Given the description of an element on the screen output the (x, y) to click on. 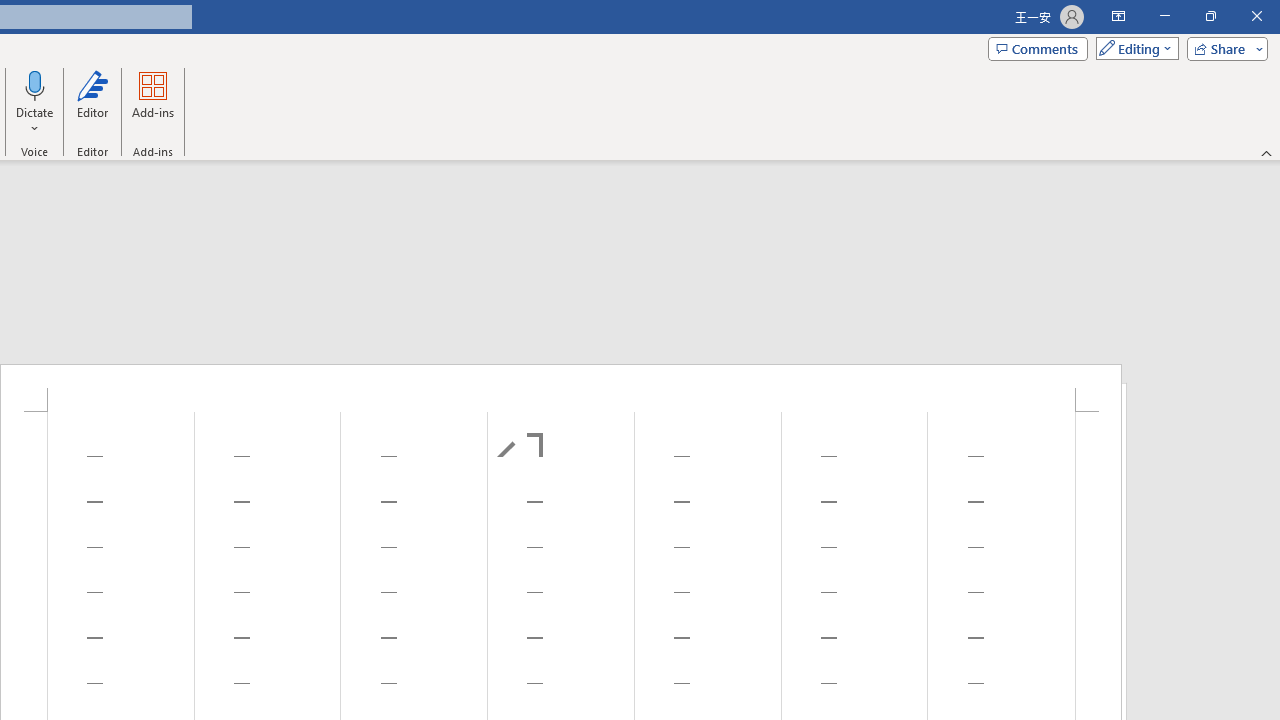
Minimize (1164, 16)
Close (1256, 16)
Share (1223, 48)
Mode (1133, 47)
Collapse the Ribbon (1267, 152)
Ribbon Display Options (1118, 16)
More Options (35, 121)
Editor (92, 102)
Comments (1038, 48)
Restore Down (1210, 16)
Header -Section 1- (561, 387)
Dictate (35, 102)
